Given the description of an element on the screen output the (x, y) to click on. 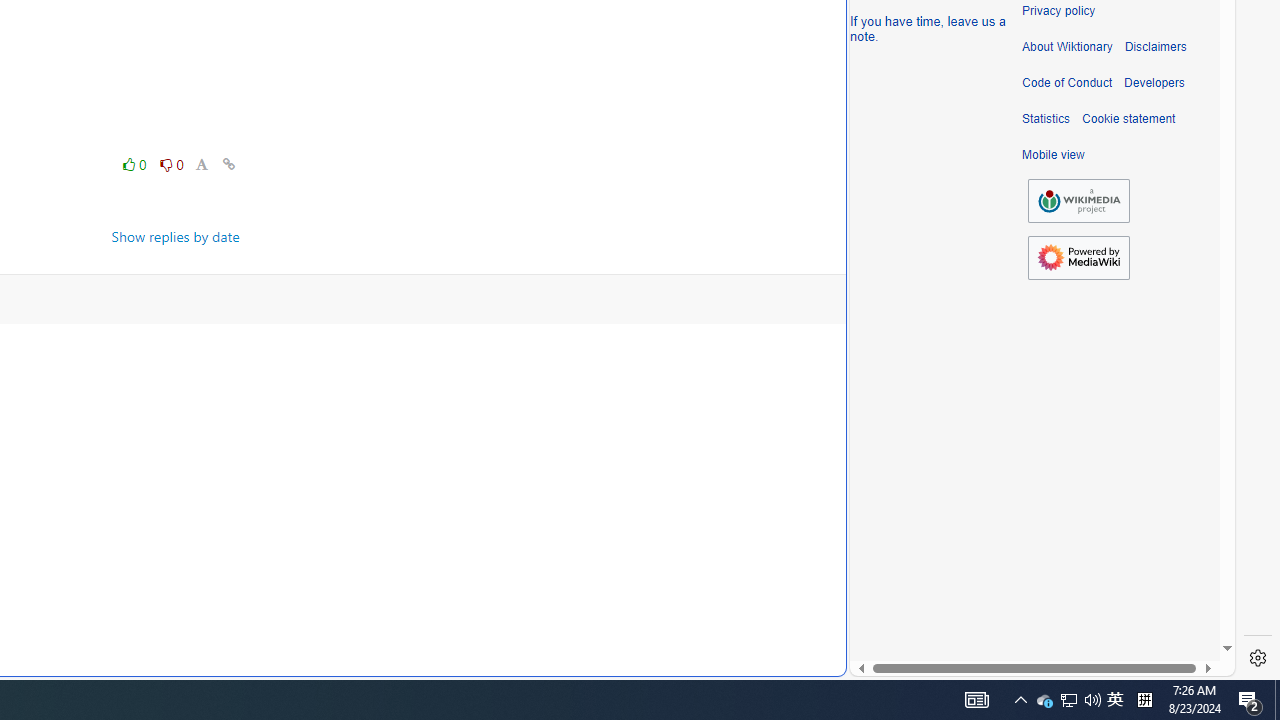
Mobile view (1053, 155)
Cookie statement (1128, 119)
Mobile view (1053, 155)
Cookie statement (1128, 119)
If you have time, leave us a note. (927, 27)
Disclaimers (1154, 47)
